Given the description of an element on the screen output the (x, y) to click on. 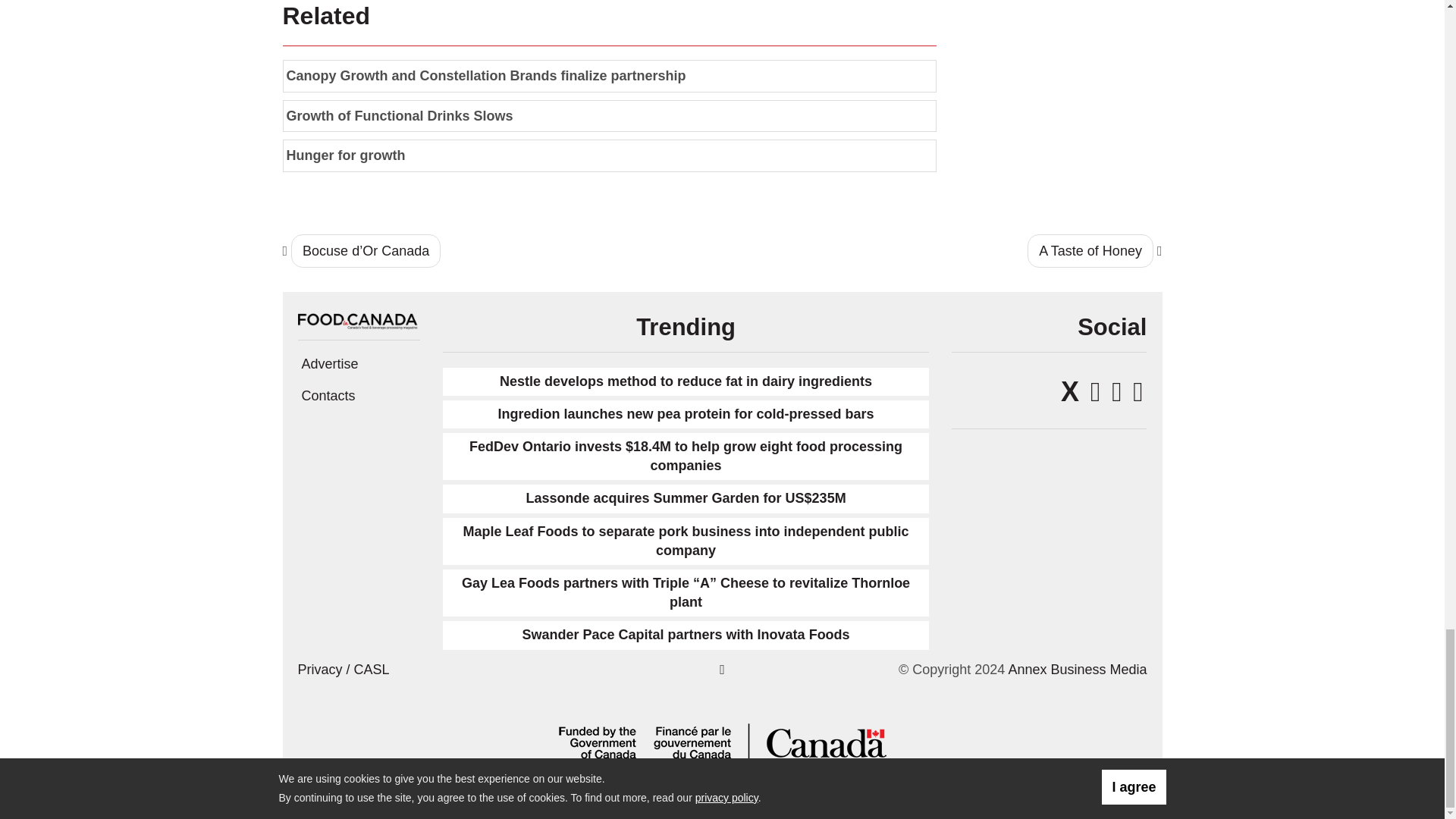
scroll to top (722, 669)
Annex Business Media (1077, 669)
Food In Canada (358, 319)
